Given the description of an element on the screen output the (x, y) to click on. 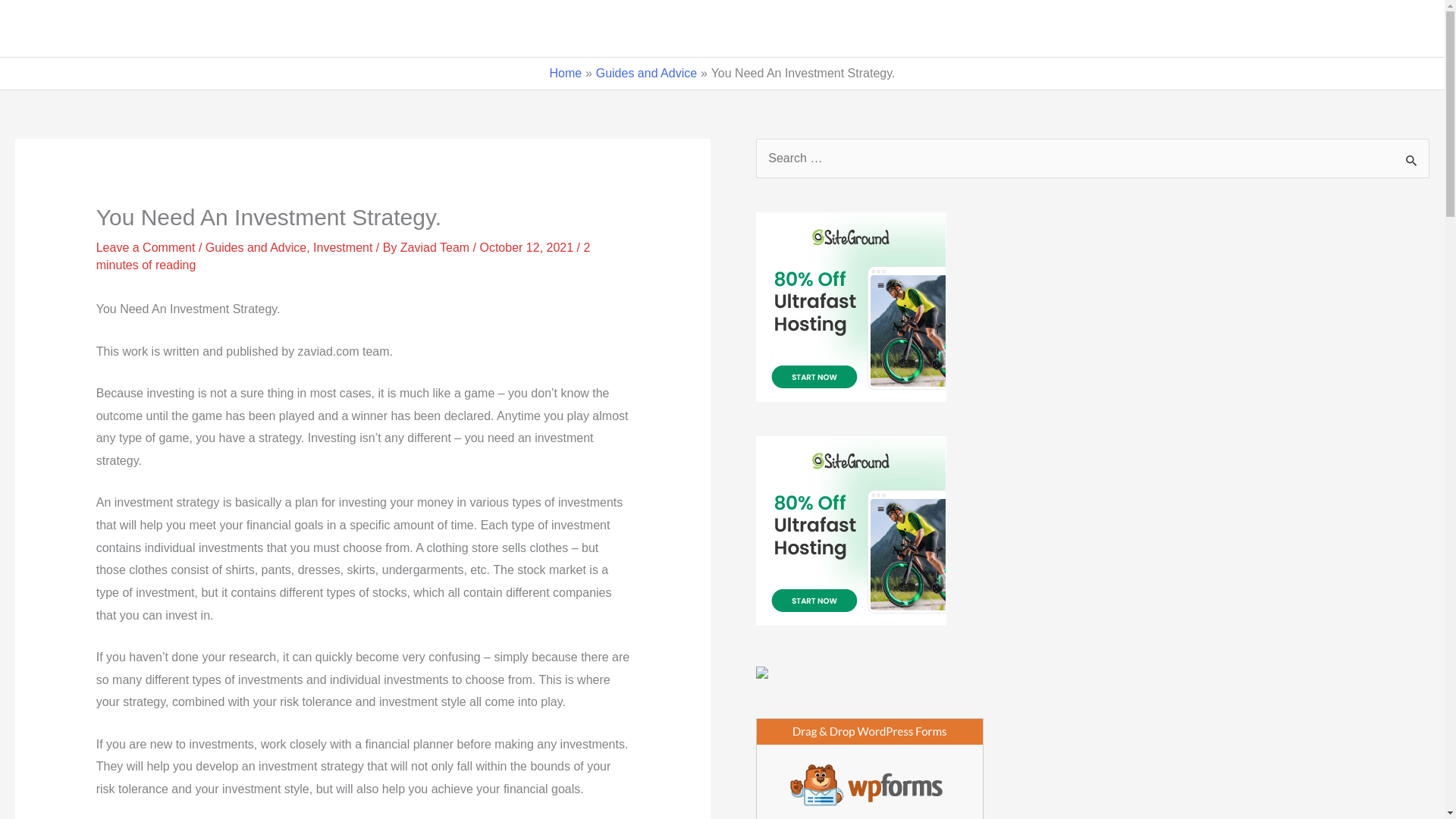
View all posts by Zaviad Team (436, 246)
Zaviad (56, 28)
Proverbs (1266, 28)
Explainer (1183, 28)
Quotes (986, 28)
Home (911, 28)
